Given the description of an element on the screen output the (x, y) to click on. 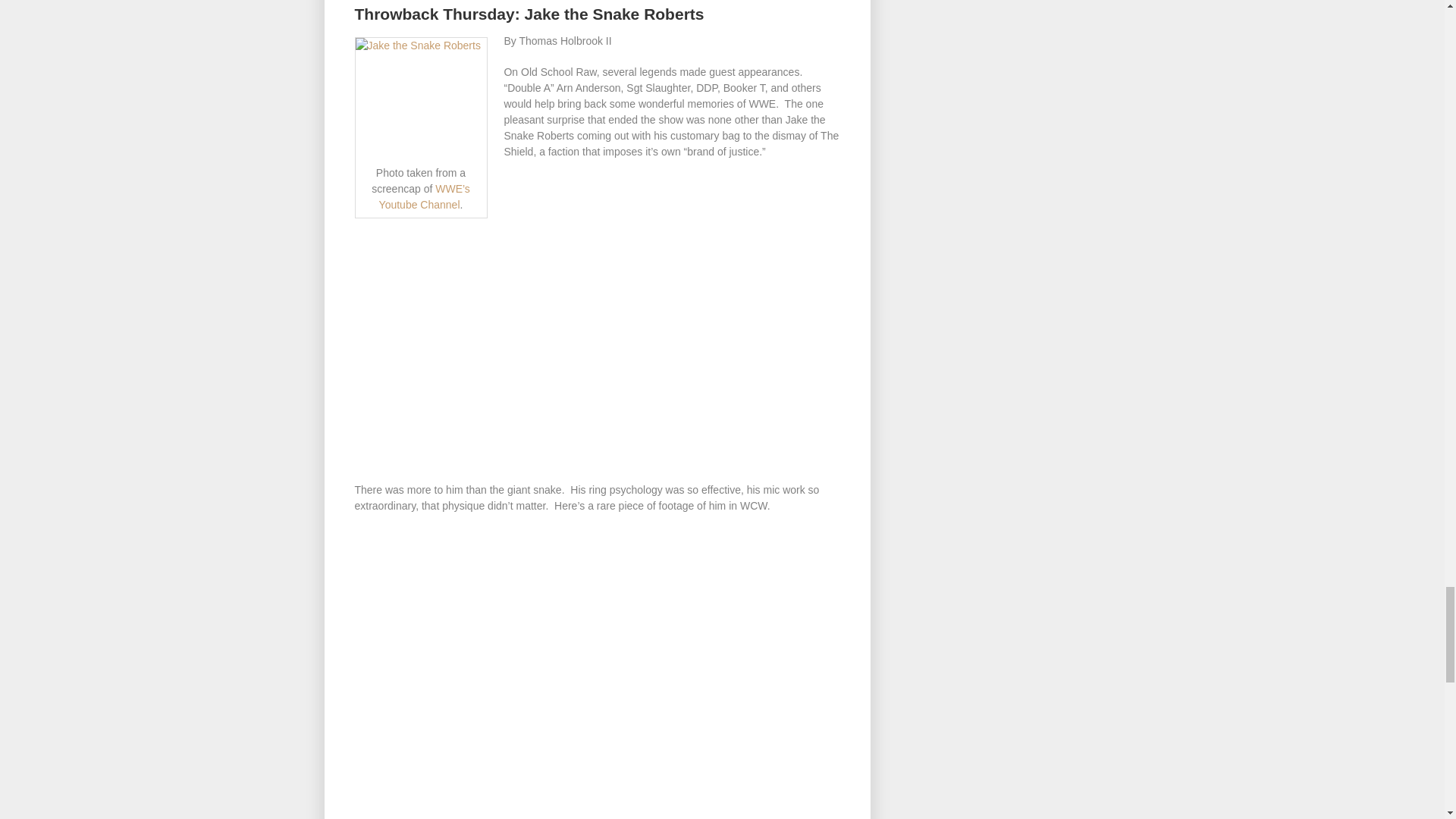
Old School Raw was pretty sweet in 2014.  :D (424, 196)
Throwback Thursday: Jake the Snake Roberts (529, 13)
